Given the description of an element on the screen output the (x, y) to click on. 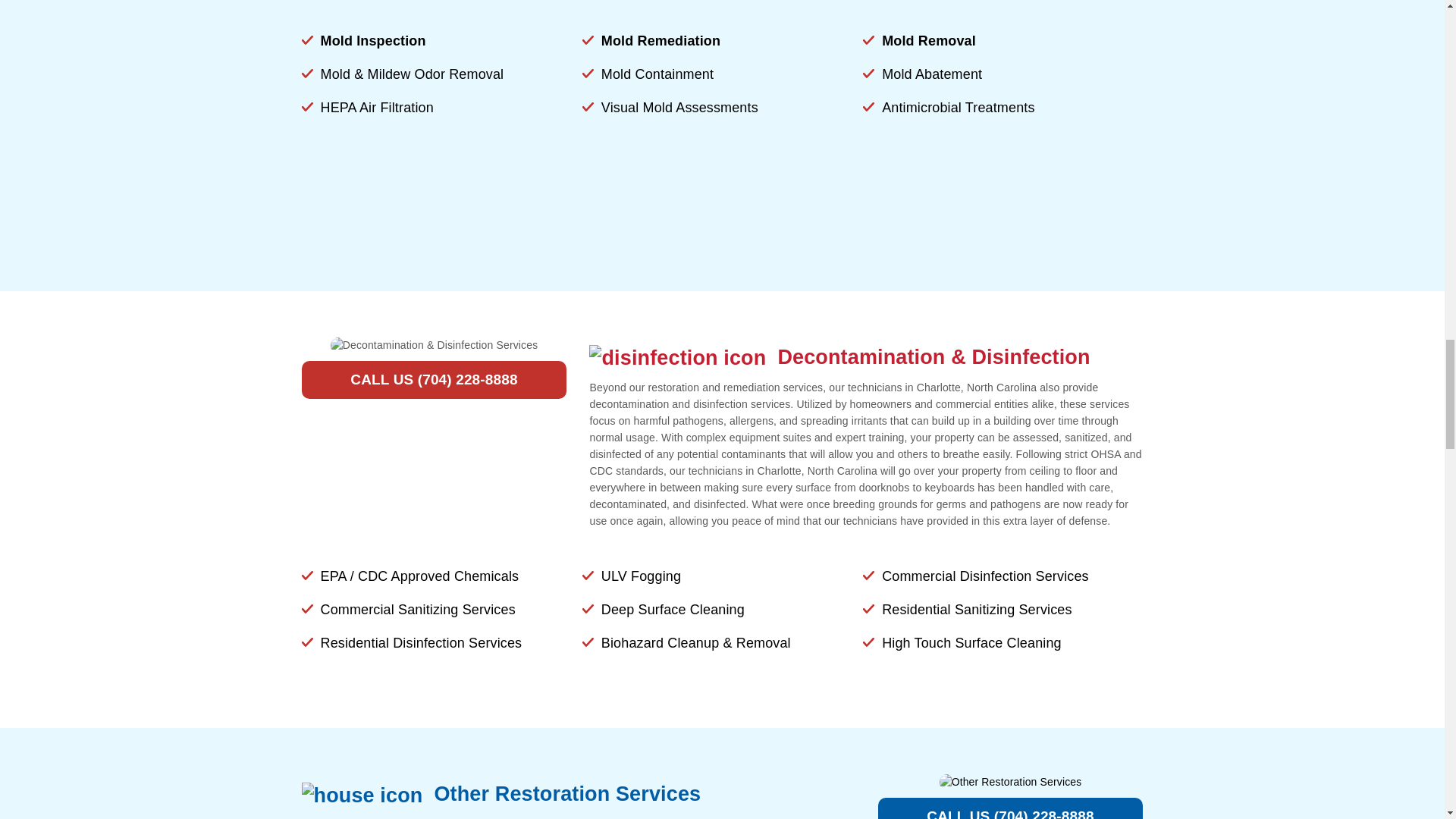
Mold Remediation (660, 40)
Mold Removal (928, 40)
Mold Inspection (372, 40)
